Given the description of an element on the screen output the (x, y) to click on. 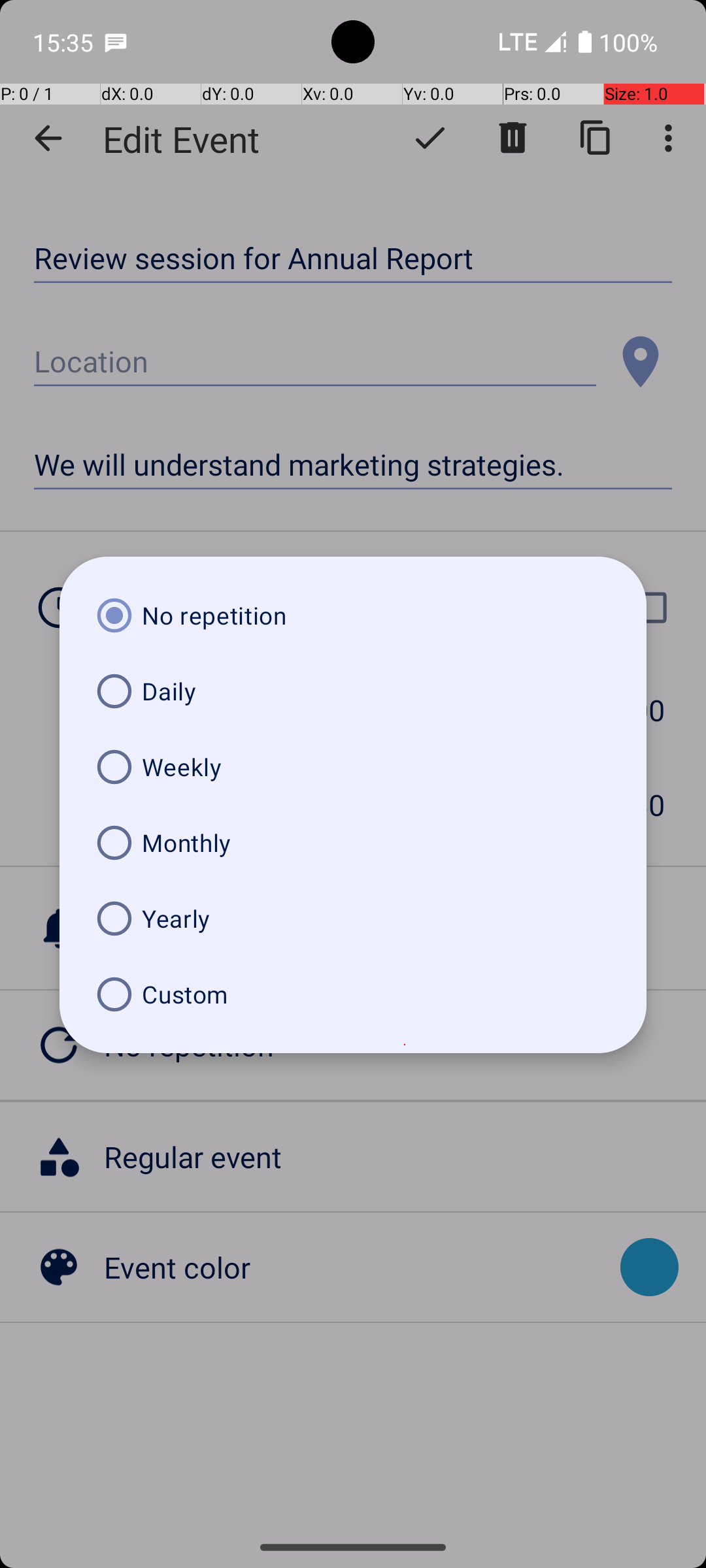
Daily Element type: android.widget.RadioButton (352, 691)
Weekly Element type: android.widget.RadioButton (352, 766)
Monthly Element type: android.widget.RadioButton (352, 842)
Yearly Element type: android.widget.RadioButton (352, 918)
